Given the description of an element on the screen output the (x, y) to click on. 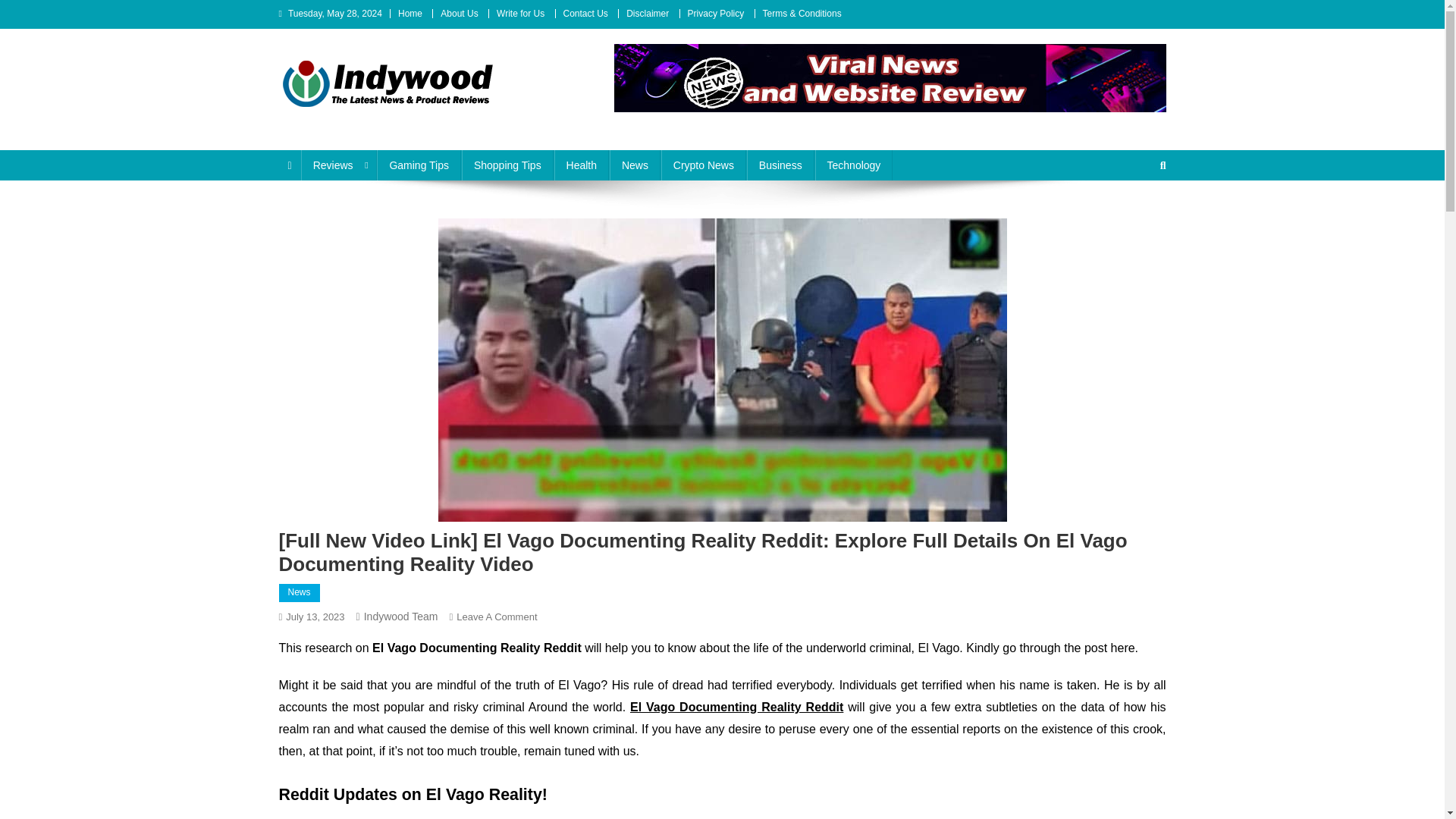
News (299, 592)
Indywood Team (401, 616)
Shopping Tips (507, 164)
Write for Us (520, 13)
Privacy Policy (715, 13)
Home (409, 13)
Reviews (339, 164)
Gaming Tips (419, 164)
Contact Us (584, 13)
Disclaimer (647, 13)
Technology (854, 164)
Health (581, 164)
About Us (459, 13)
News (635, 164)
July 13, 2023 (314, 616)
